Given the description of an element on the screen output the (x, y) to click on. 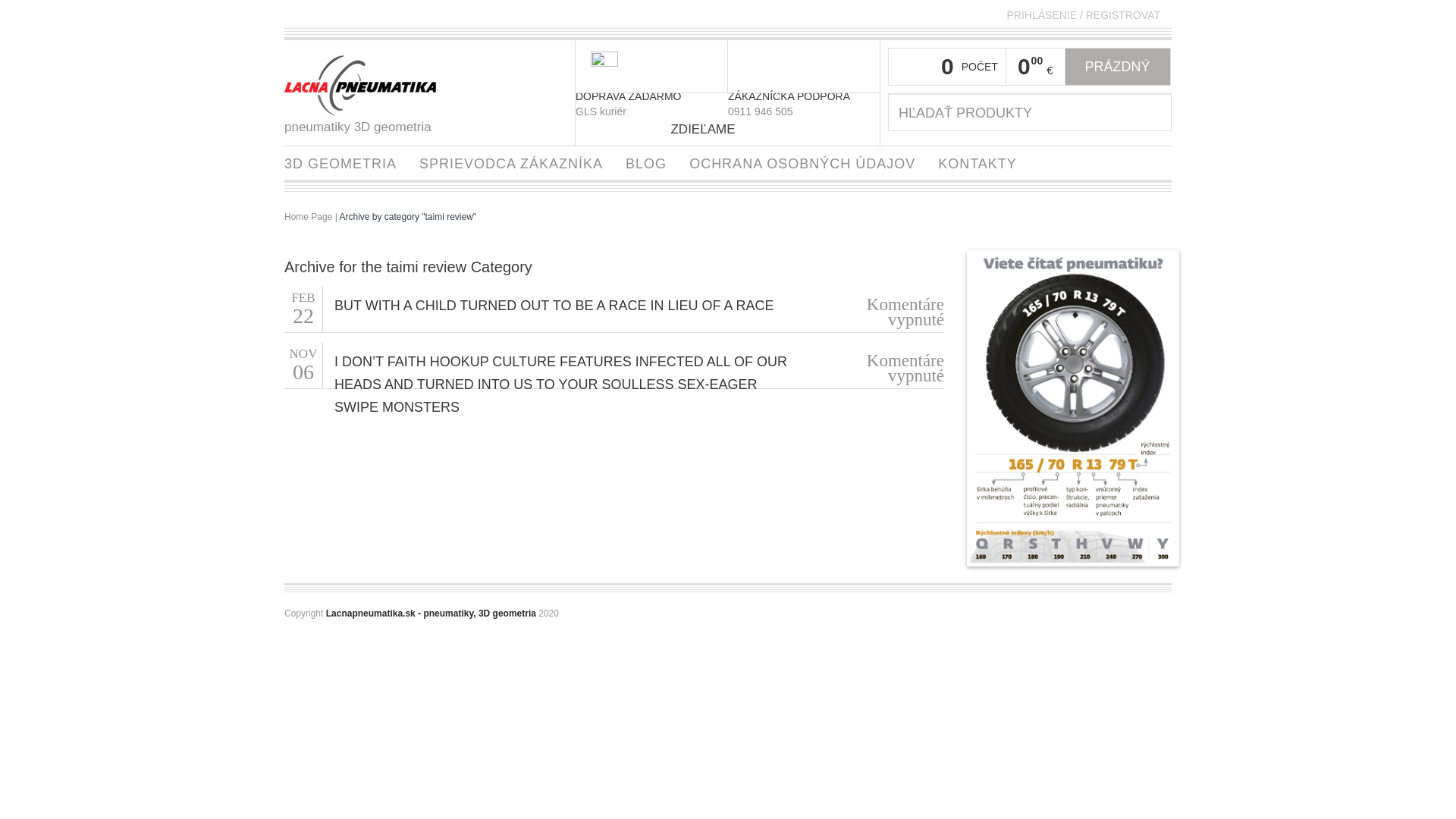
twitter (762, 128)
3D GEOMETRIA (340, 161)
Home Page (307, 216)
Archive by category "taimi review" (408, 216)
google (778, 128)
Lacnapneumatika.sk - pneumatiky, 3D geometria (430, 613)
BUT WITH A CHILD TURNED OUT TO BE A RACE IN LIEU OF A RACE (553, 305)
BLOG (646, 161)
facebook (746, 128)
KONTAKTY (976, 161)
